Given the description of an element on the screen output the (x, y) to click on. 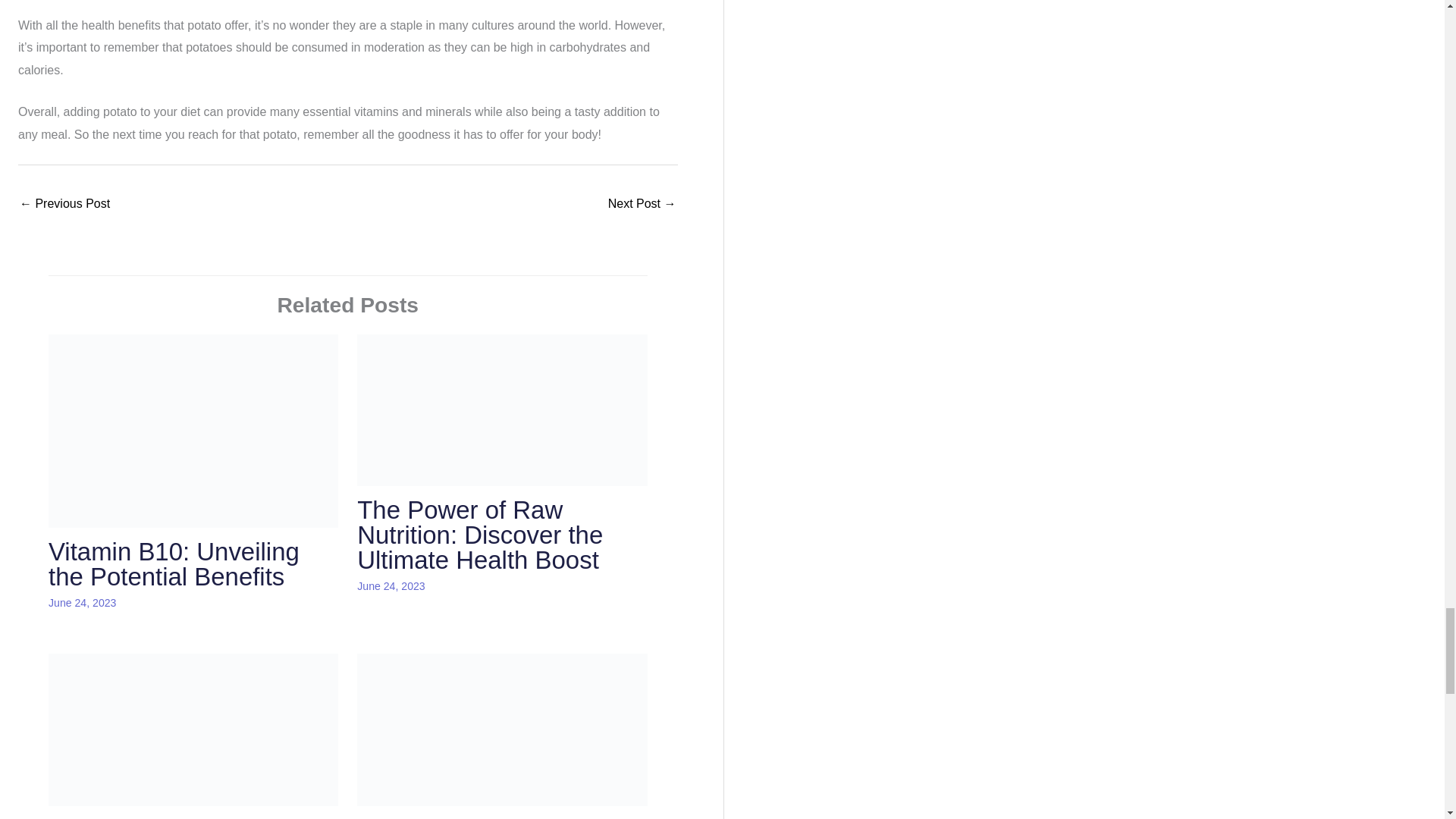
Boost Your Organ Health: Vitamins for Kidneys And Liver (65, 204)
